Given the description of an element on the screen output the (x, y) to click on. 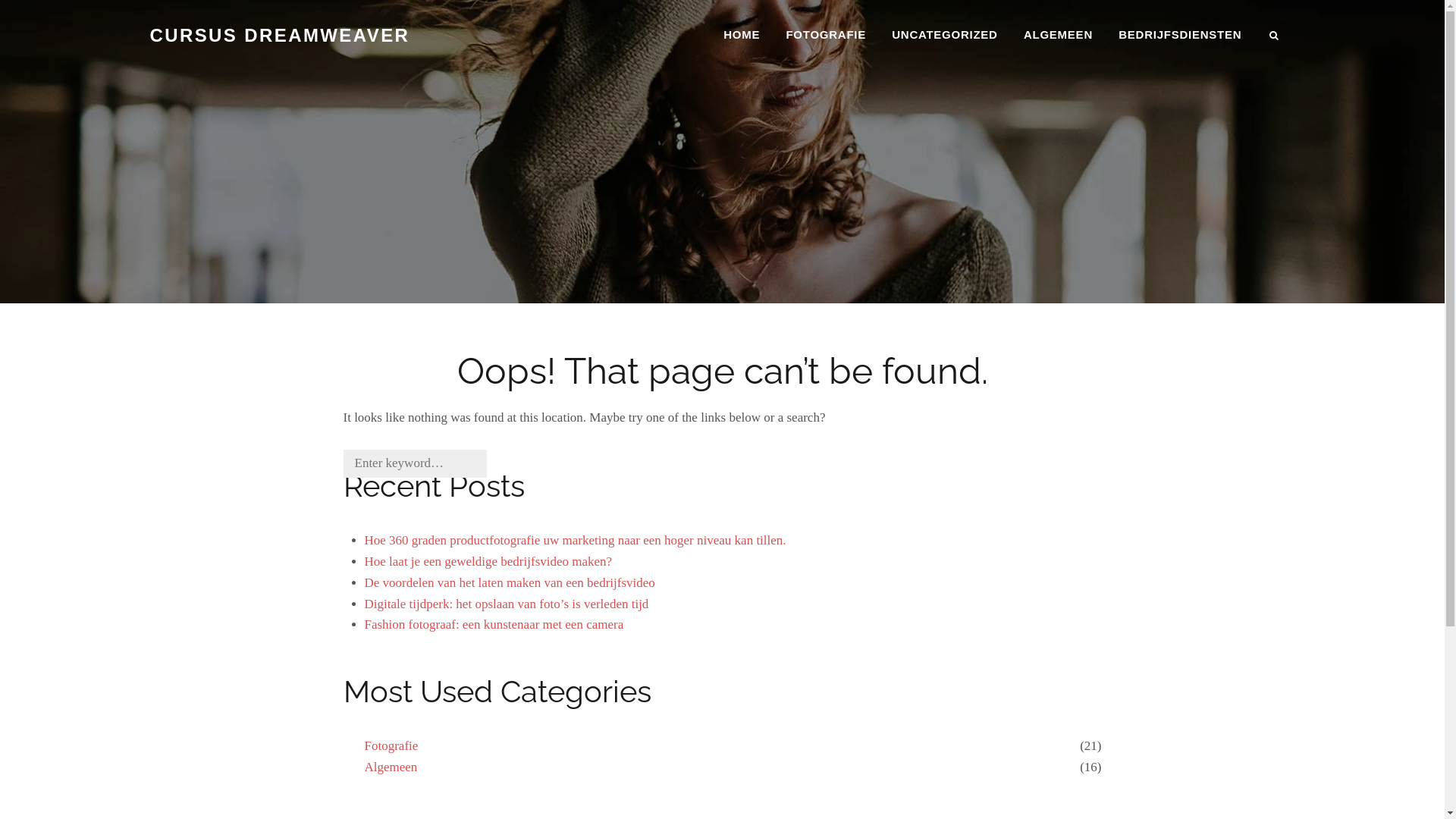
Algemeen Element type: text (390, 767)
BEDRIJFSDIENSTEN Element type: text (1179, 34)
Fashion fotograaf: een kunstenaar met een camera Element type: text (493, 624)
SEARCH Element type: text (1274, 36)
ALGEMEEN Element type: text (1058, 34)
FOTOGRAFIE Element type: text (825, 34)
UNCATEGORIZED Element type: text (944, 34)
HOME Element type: text (741, 34)
Hoe laat je een geweldige bedrijfsvideo maken? Element type: text (487, 561)
Fotografie Element type: text (390, 745)
De voordelen van het laten maken van een bedrijfsvideo Element type: text (509, 582)
CURSUS DREAMWEAVER Element type: text (280, 34)
